Given the description of an element on the screen output the (x, y) to click on. 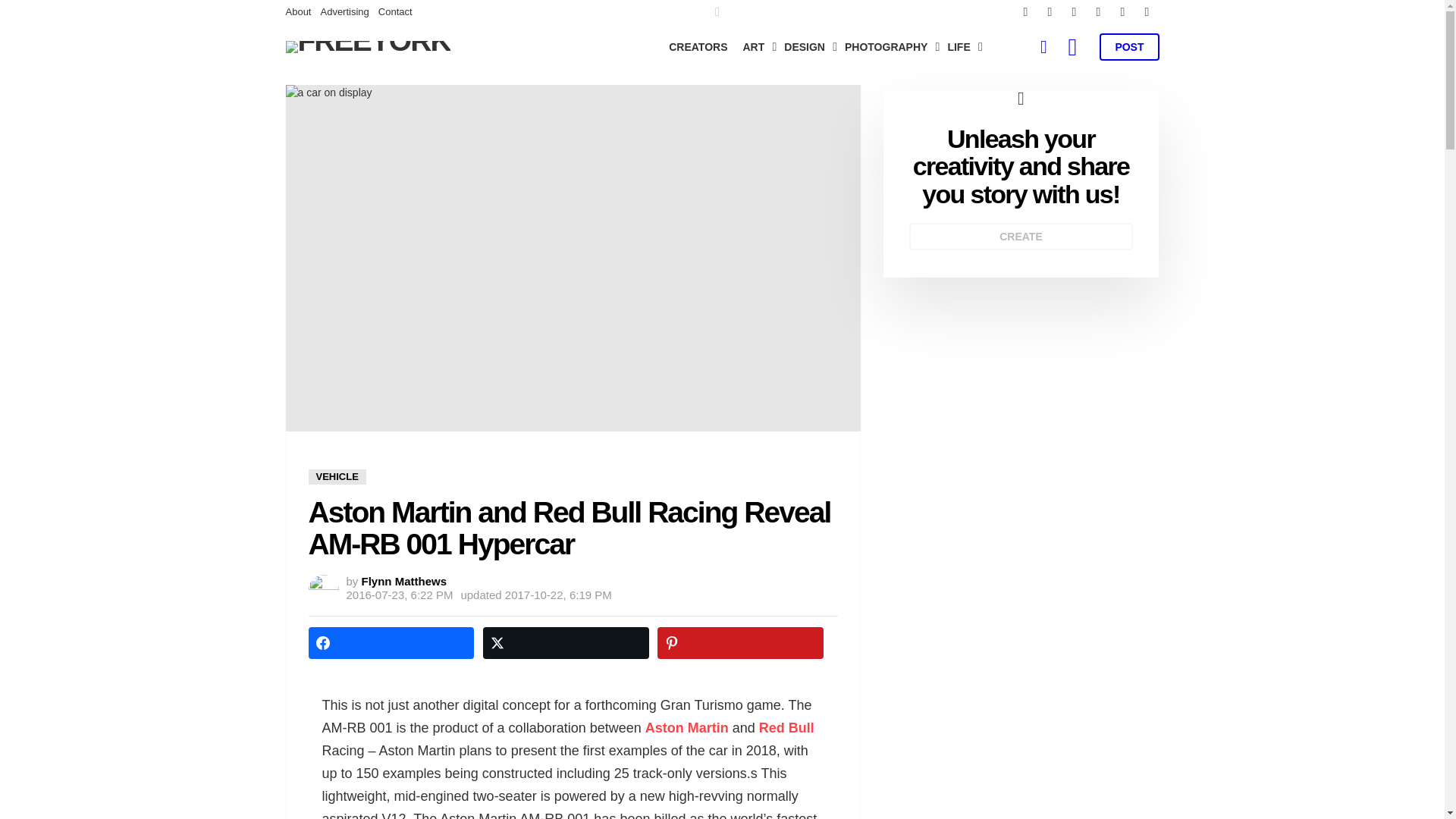
Share on Facebook (390, 643)
VEHICLE (336, 476)
facebook (1024, 11)
pinterest (1097, 11)
PHOTOGRAPHY (888, 47)
POST (1128, 46)
About (298, 12)
Share on Pinterest (741, 643)
CREATORS (698, 47)
twitter (1048, 11)
Advertising (344, 12)
DESIGN (806, 47)
ART (756, 47)
tiktok (1146, 11)
